Given the description of an element on the screen output the (x, y) to click on. 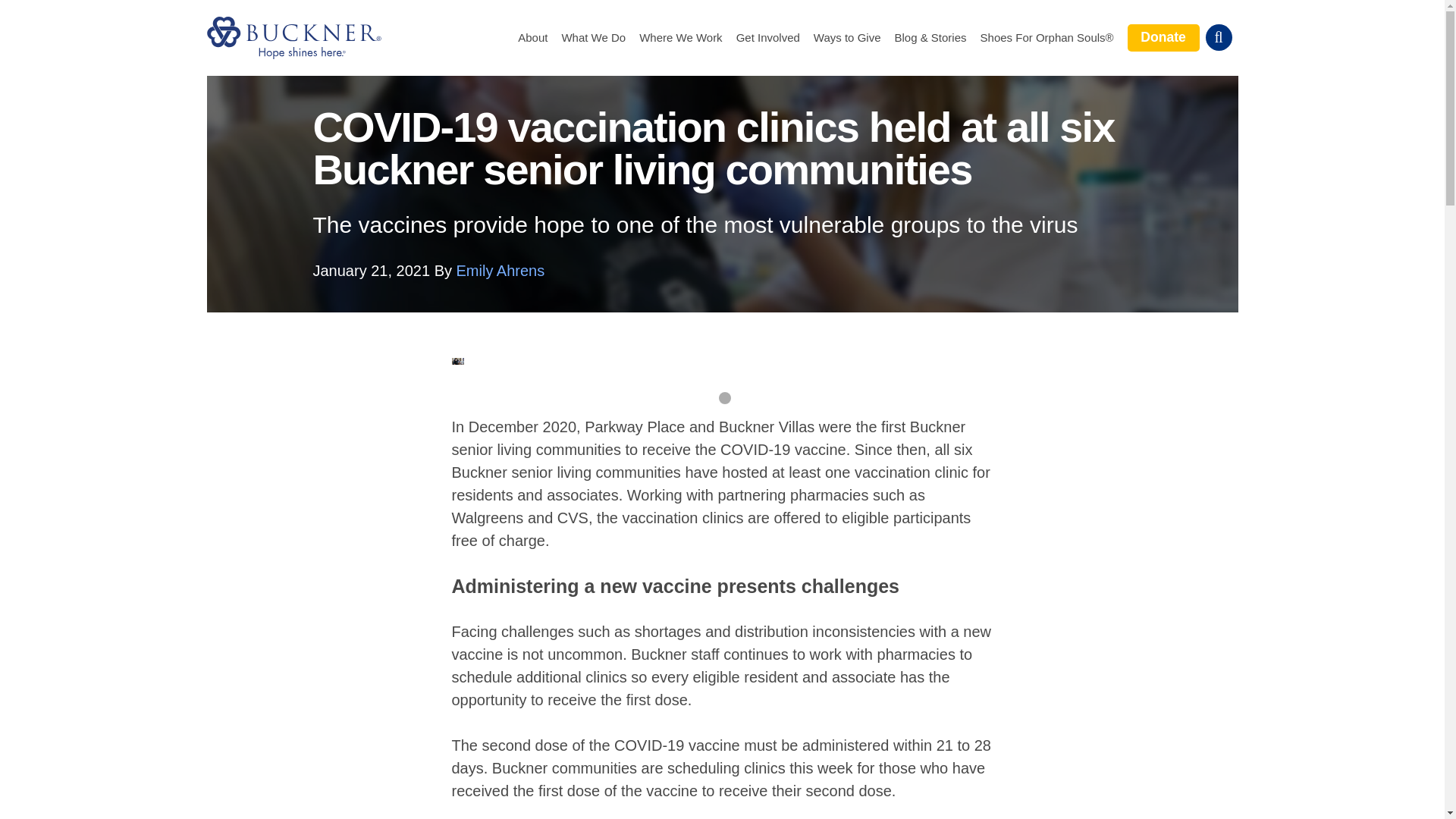
Ways to Give (846, 37)
Toggle Search (1218, 37)
Buckner International  (293, 37)
Emily Ahrens (500, 270)
Donate (1162, 37)
Get Involved (767, 37)
Where We Work (680, 37)
